Given the description of an element on the screen output the (x, y) to click on. 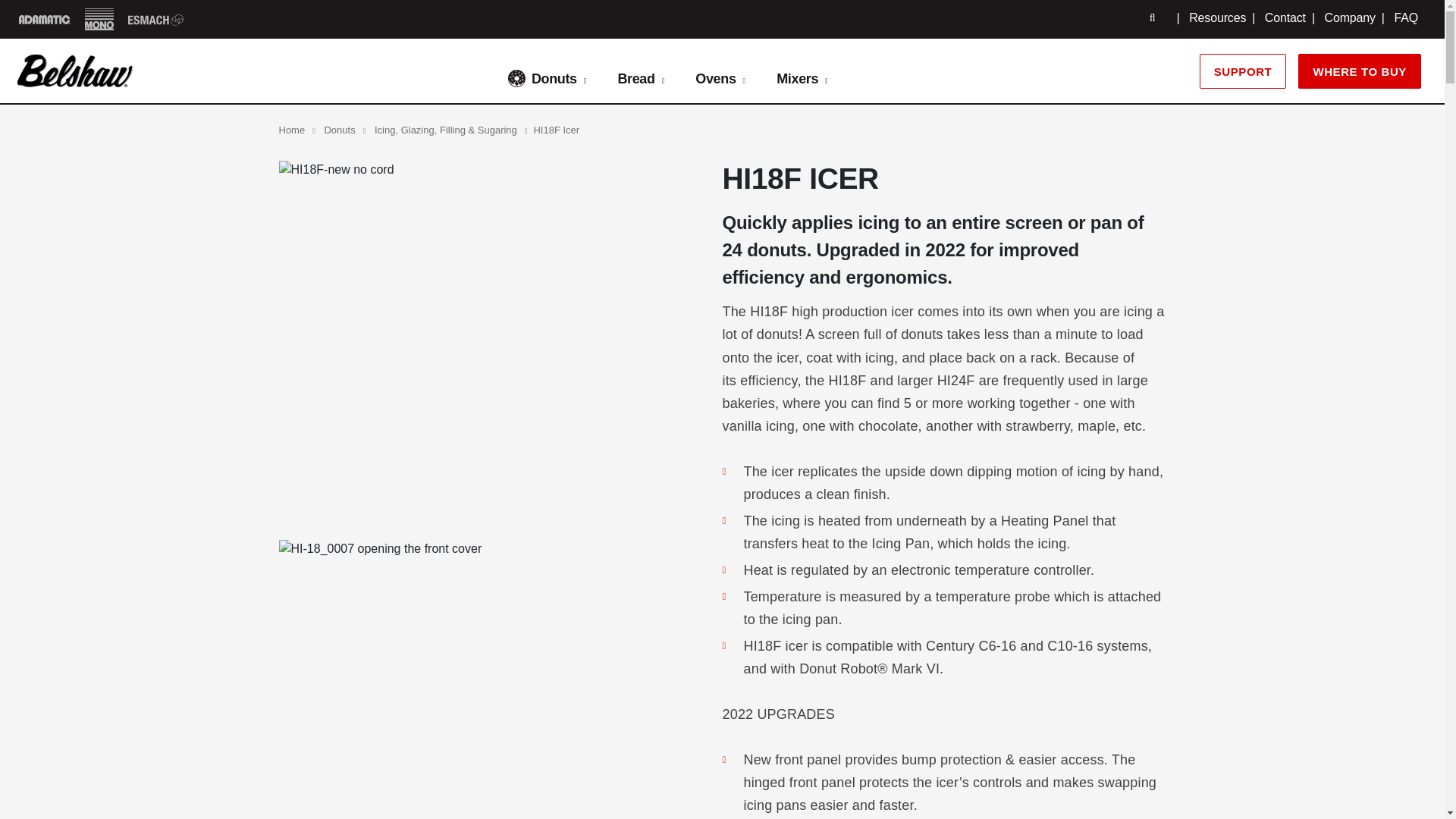
Resources (1217, 17)
Ovens (711, 78)
Search (1152, 16)
Company (1348, 17)
FAQ (1405, 17)
Bread (632, 78)
Mono (98, 18)
Esmach (156, 18)
Adamatic (43, 18)
Contact (1285, 17)
Donuts (542, 78)
